Given the description of an element on the screen output the (x, y) to click on. 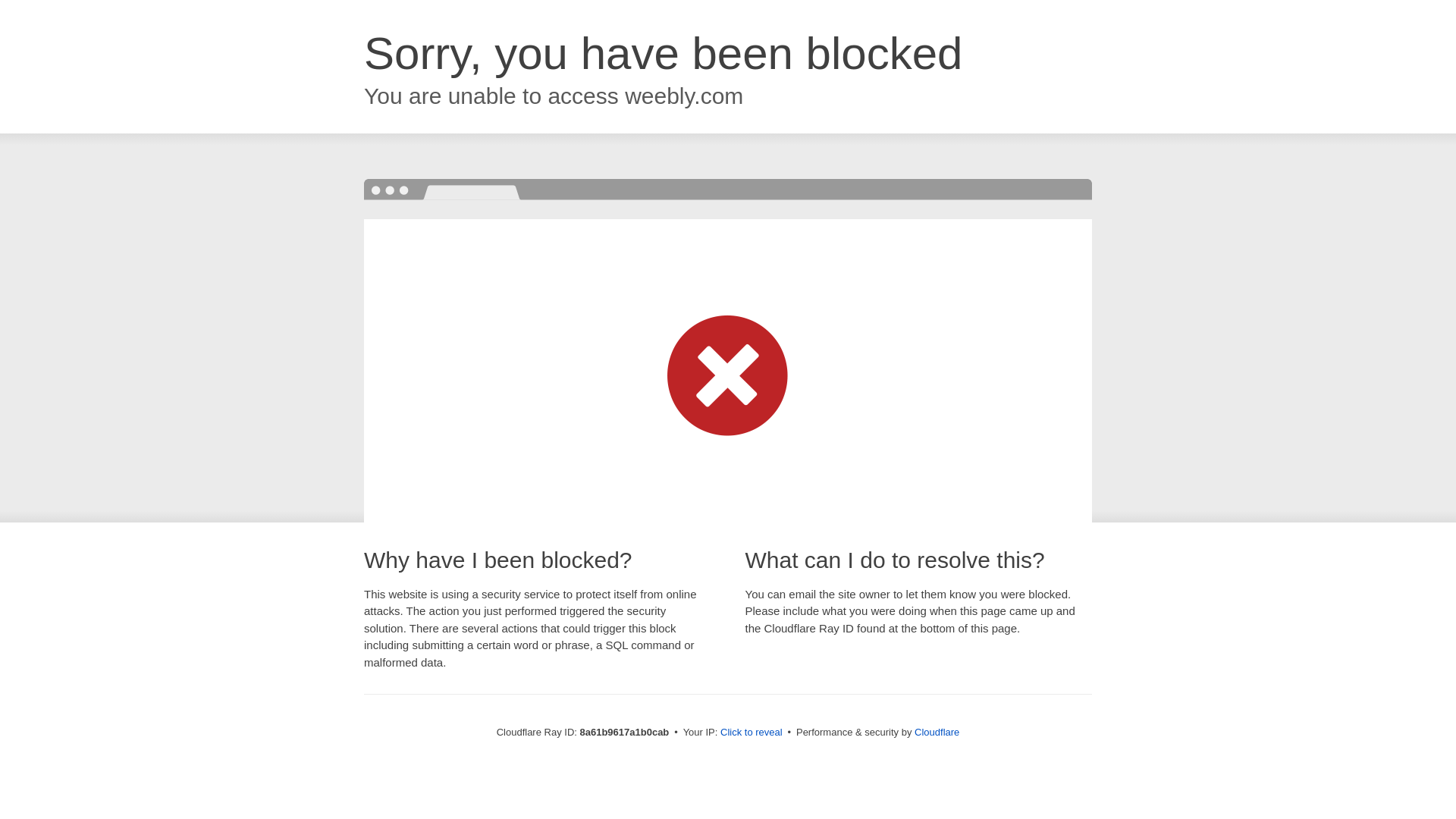
Click to reveal (751, 732)
Cloudflare (936, 731)
